Given the description of an element on the screen output the (x, y) to click on. 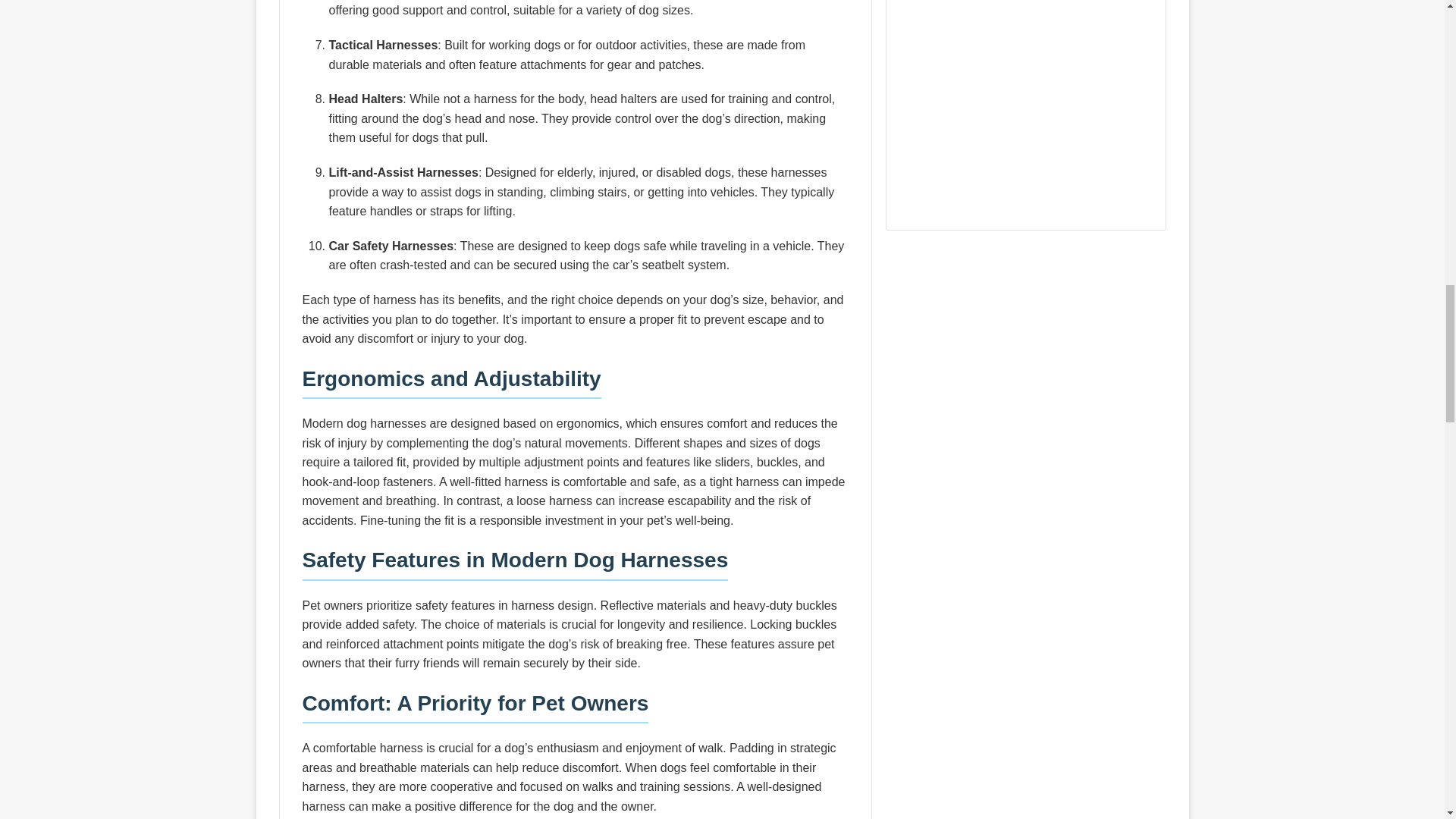
Advertisement (1025, 112)
